Given the description of an element on the screen output the (x, y) to click on. 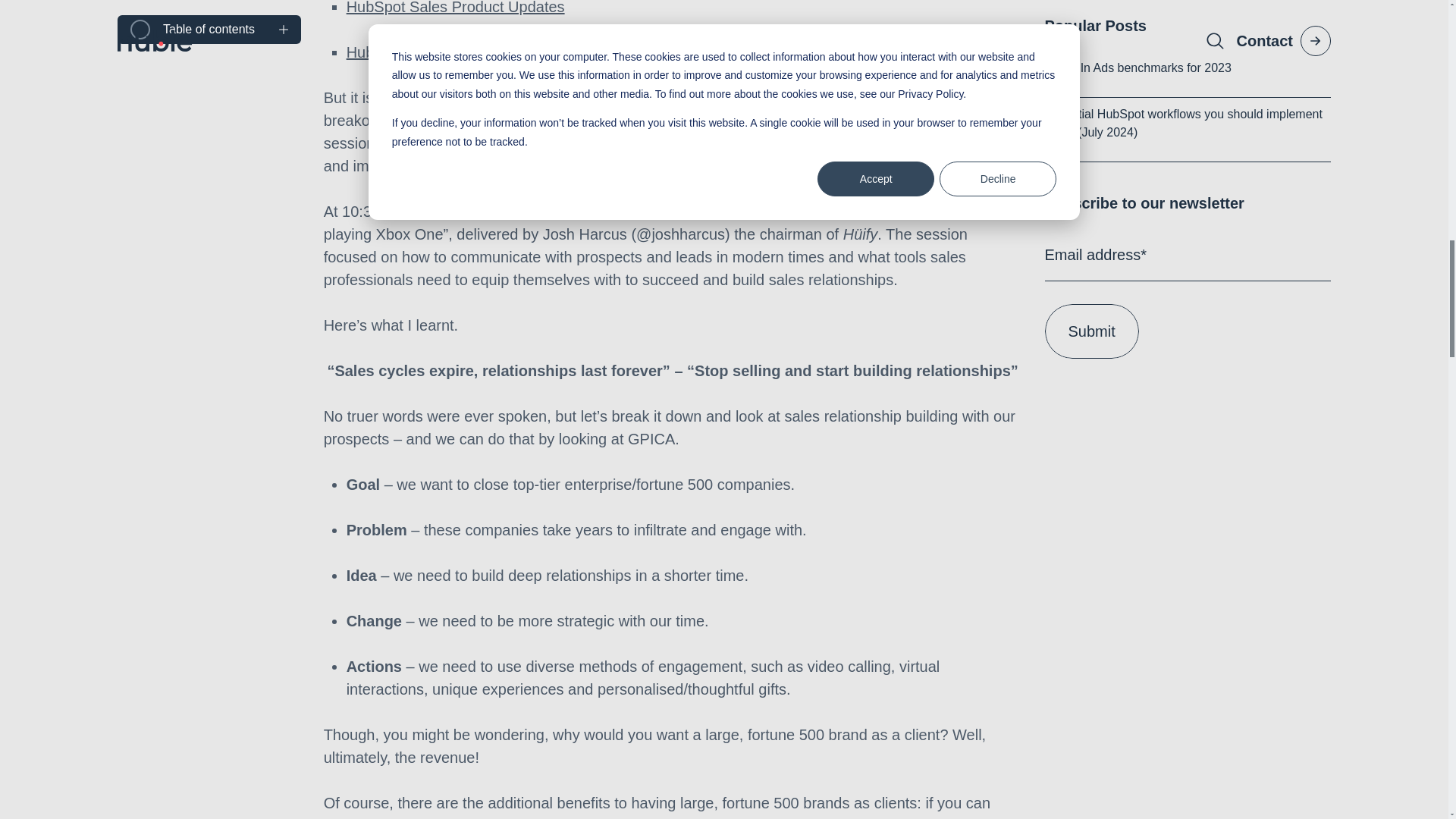
HubSpot Reporting Product Updates (469, 52)
HubSpot Sales Product Updates (455, 7)
Submit (1091, 61)
Submit (1091, 61)
